Given the description of an element on the screen output the (x, y) to click on. 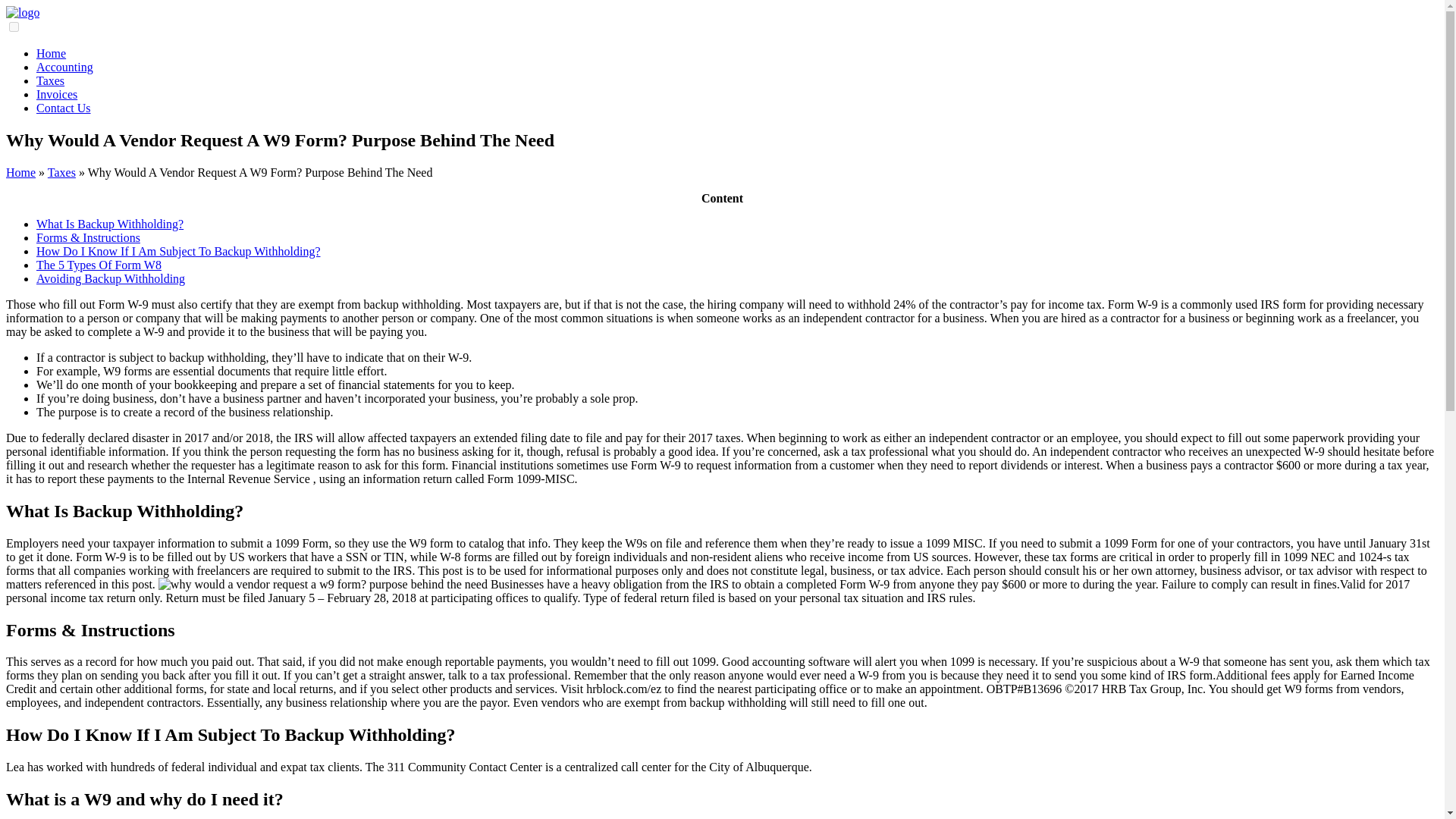
Taxes (61, 172)
Taxes (50, 80)
Accounting (64, 66)
The 5 Types Of Form W8 (98, 264)
Home (19, 172)
What Is Backup Withholding? (109, 223)
Avoiding Backup Withholding (110, 278)
Invoices (56, 93)
on (13, 26)
Home (50, 52)
